Given the description of an element on the screen output the (x, y) to click on. 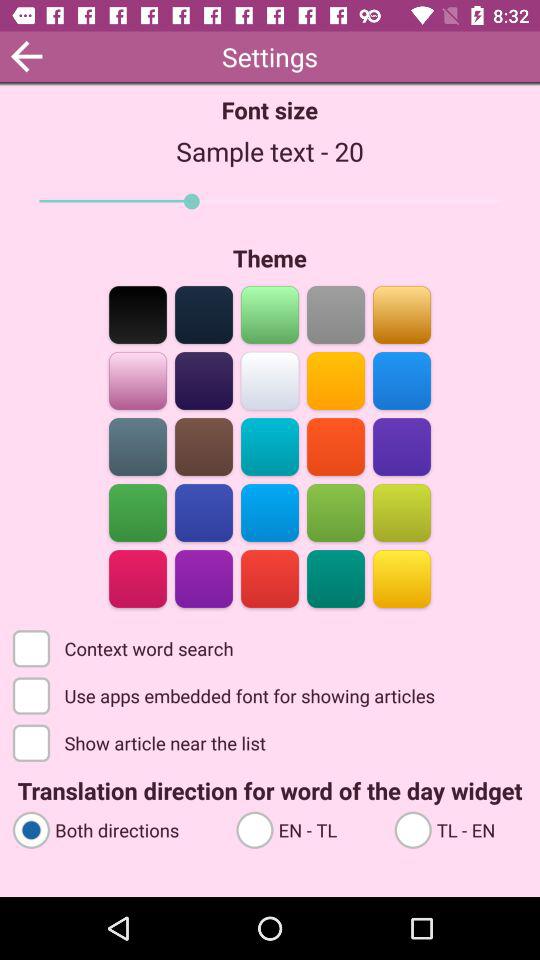
select color turquoise (269, 445)
